Given the description of an element on the screen output the (x, y) to click on. 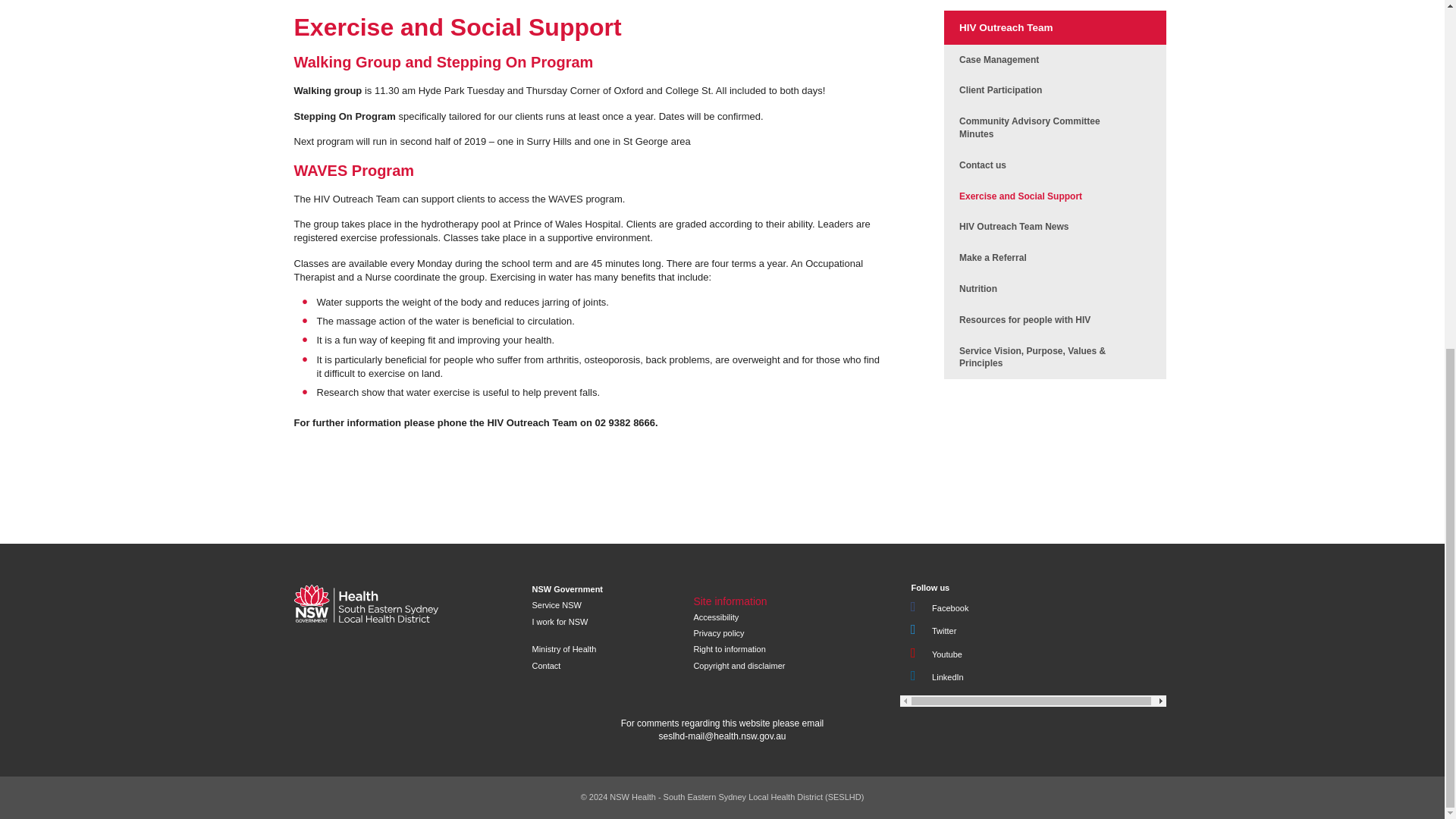
HIV Outreach Team News (1039, 226)
Consumer representatives (1039, 90)
Resources for people living with HIV (1039, 319)
